Given the description of an element on the screen output the (x, y) to click on. 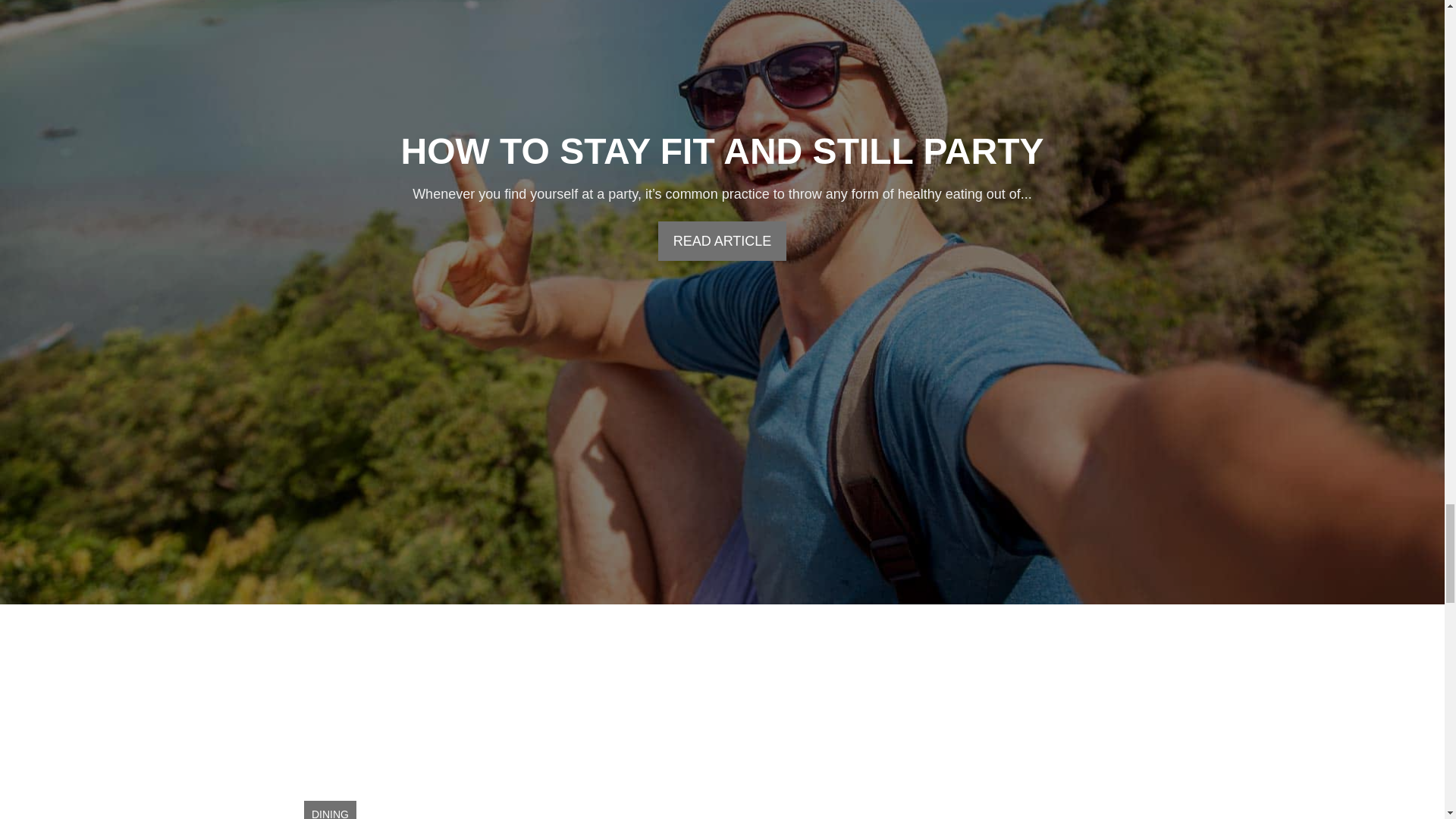
How to Stay Fit and Still Party (721, 151)
